Given the description of an element on the screen output the (x, y) to click on. 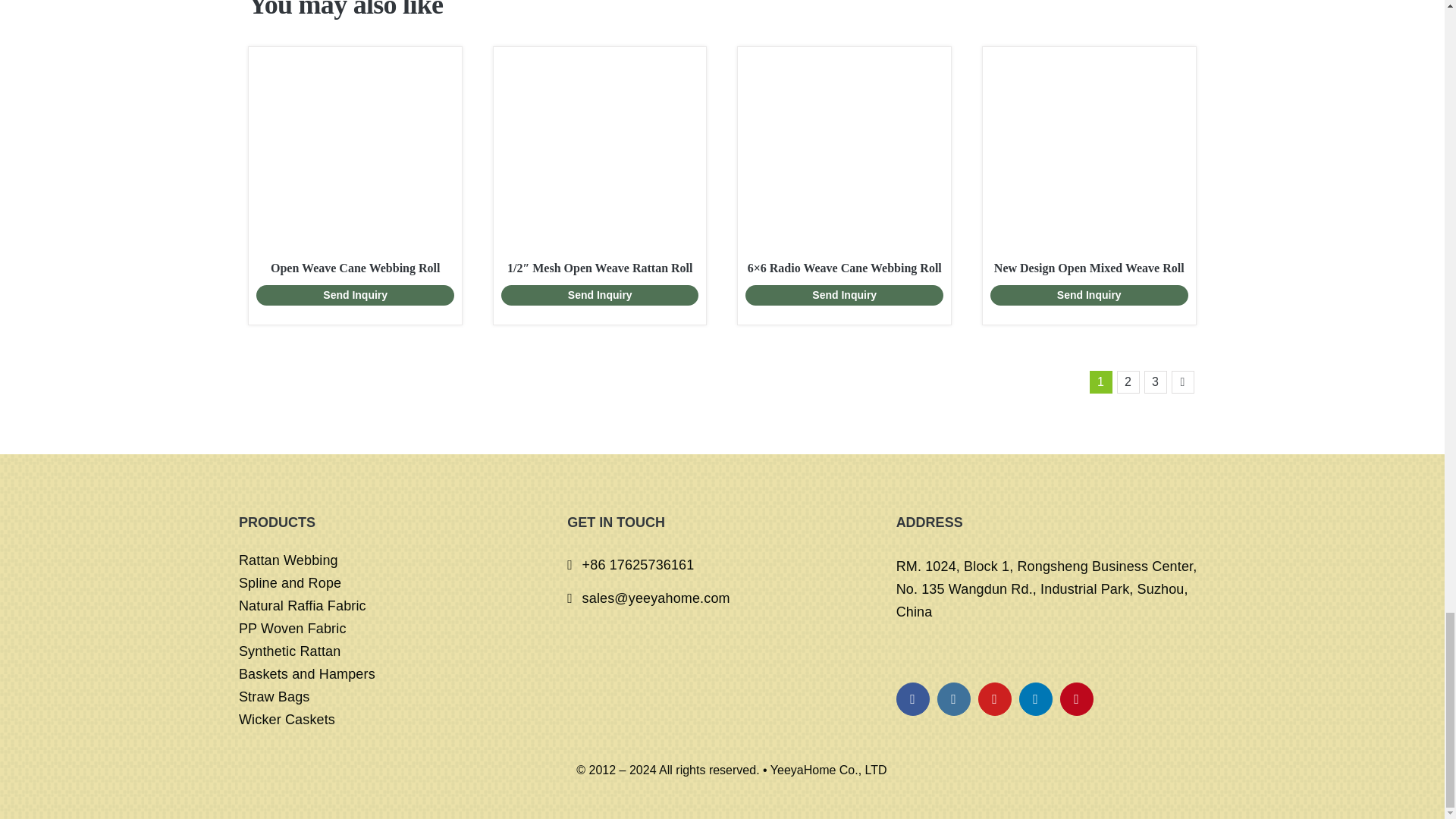
Instagram (954, 698)
Facebook (913, 698)
LinkedIn (1035, 698)
YouTube (994, 698)
Pinterest (1076, 698)
